Given the description of an element on the screen output the (x, y) to click on. 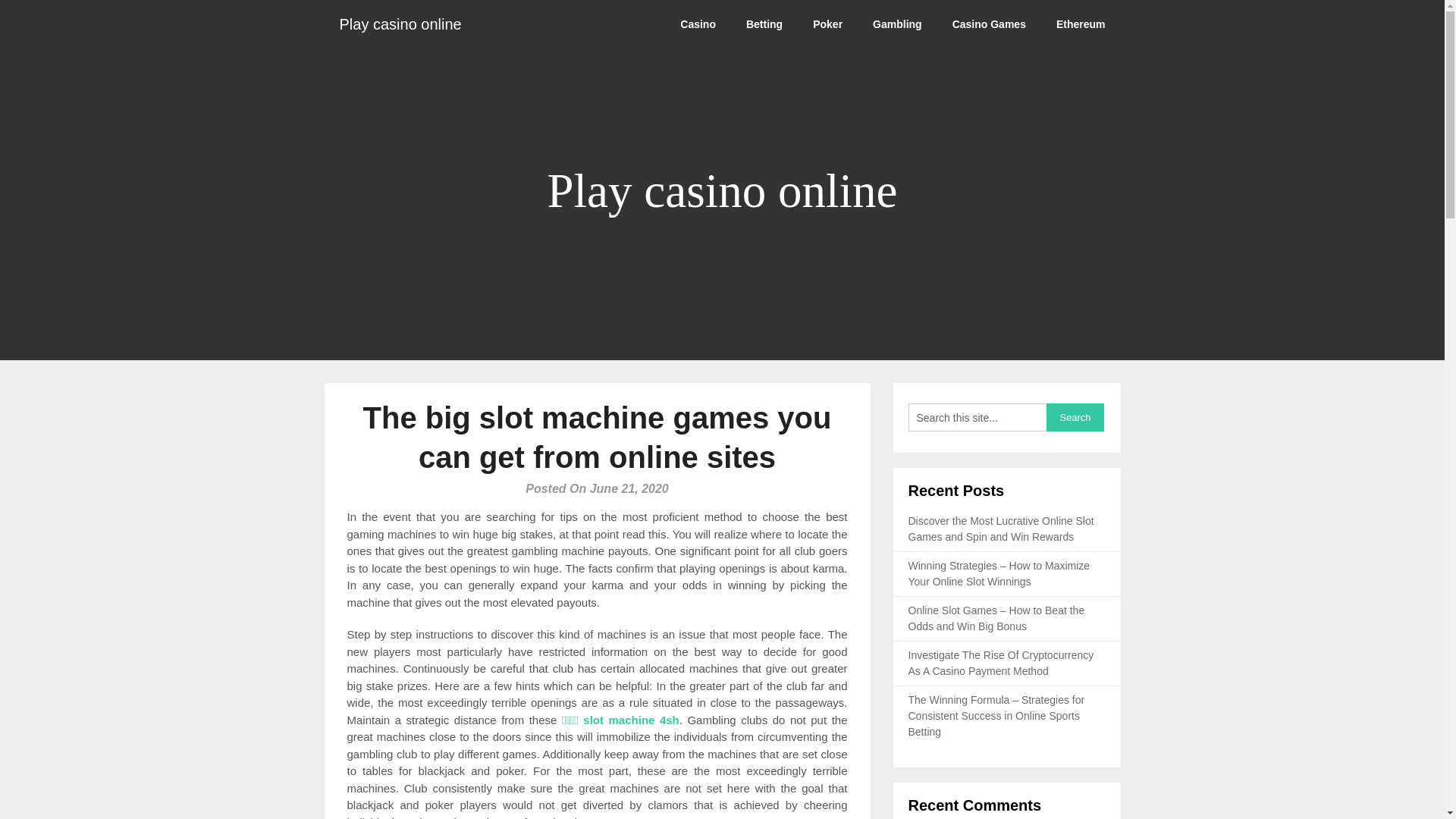
Betting (763, 24)
Gambling (897, 24)
Casino Games (989, 24)
Search (1075, 417)
Play casino online (400, 24)
Casino (697, 24)
Search this site... (977, 417)
Poker (827, 24)
Search (1075, 417)
Ethereum (1081, 24)
